Given the description of an element on the screen output the (x, y) to click on. 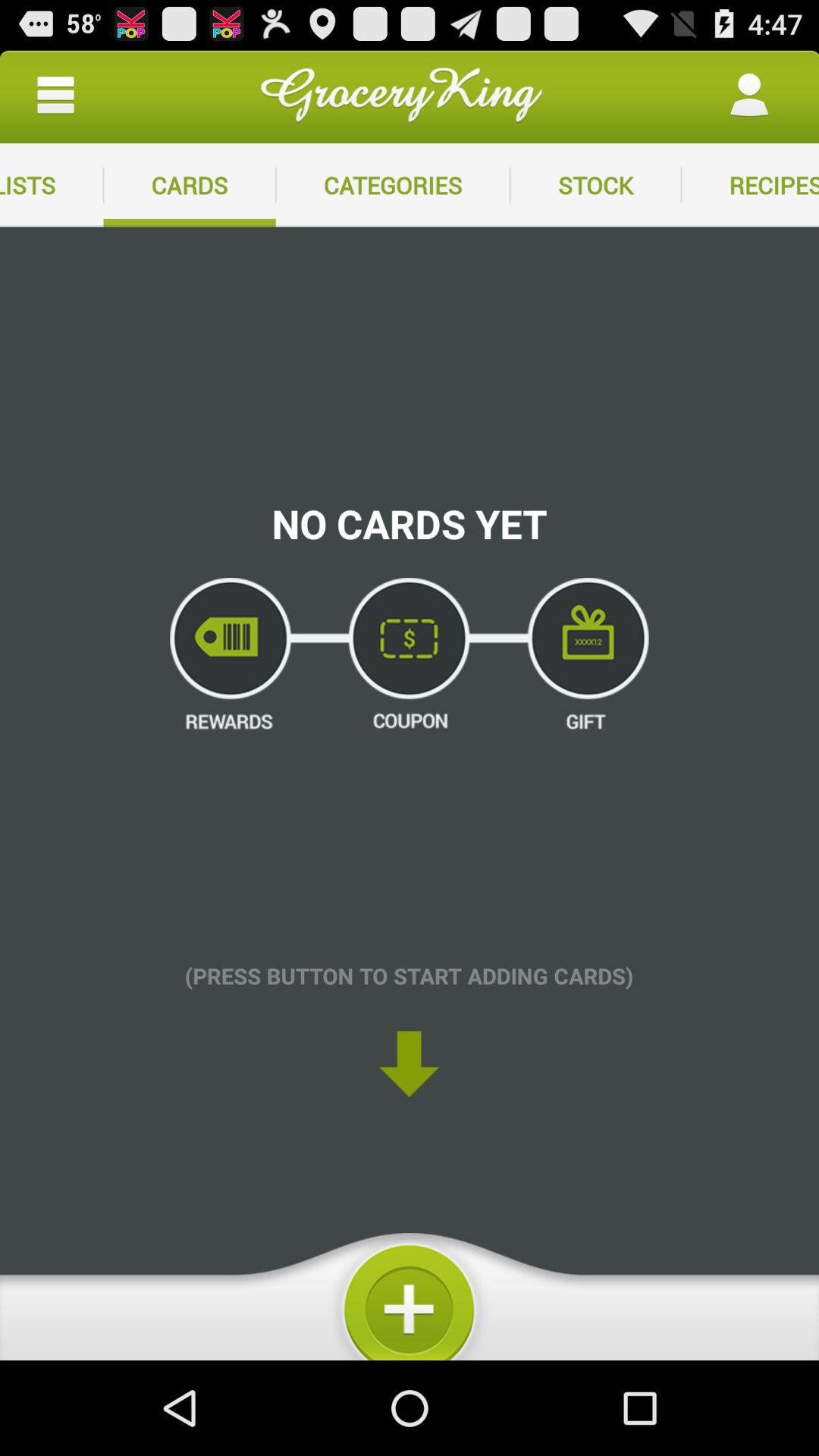
swipe to stock item (595, 184)
